Given the description of an element on the screen output the (x, y) to click on. 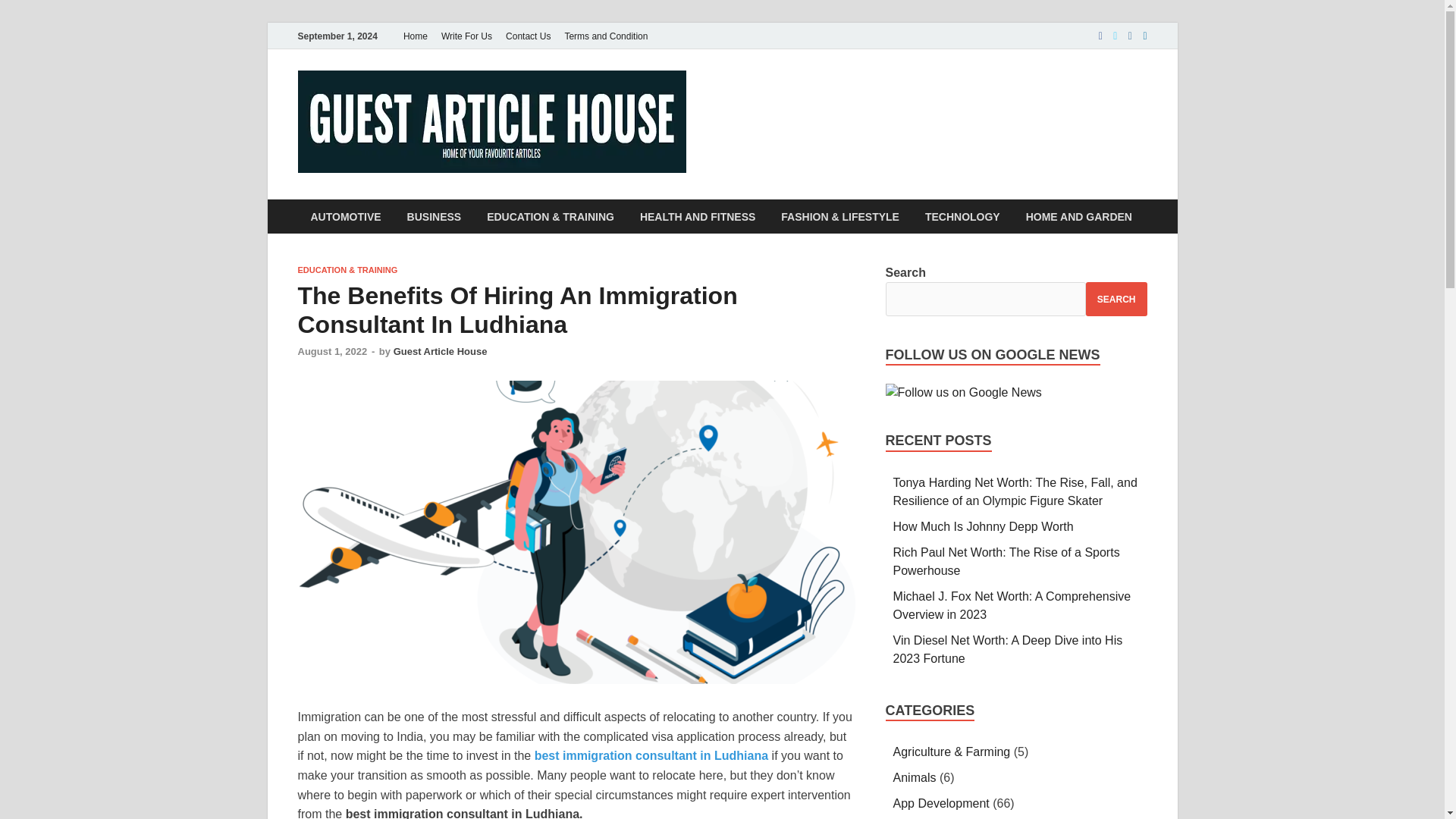
August 1, 2022 (331, 351)
Guest Article House (440, 351)
Write For Us (466, 35)
Contact Us (528, 35)
AUTOMOTIVE (345, 216)
HEALTH AND FITNESS (697, 216)
BUSINESS (434, 216)
Terms and Condition (605, 35)
HOME AND GARDEN (1078, 216)
best immigration consultant in Ludhiana (651, 755)
